Given the description of an element on the screen output the (x, y) to click on. 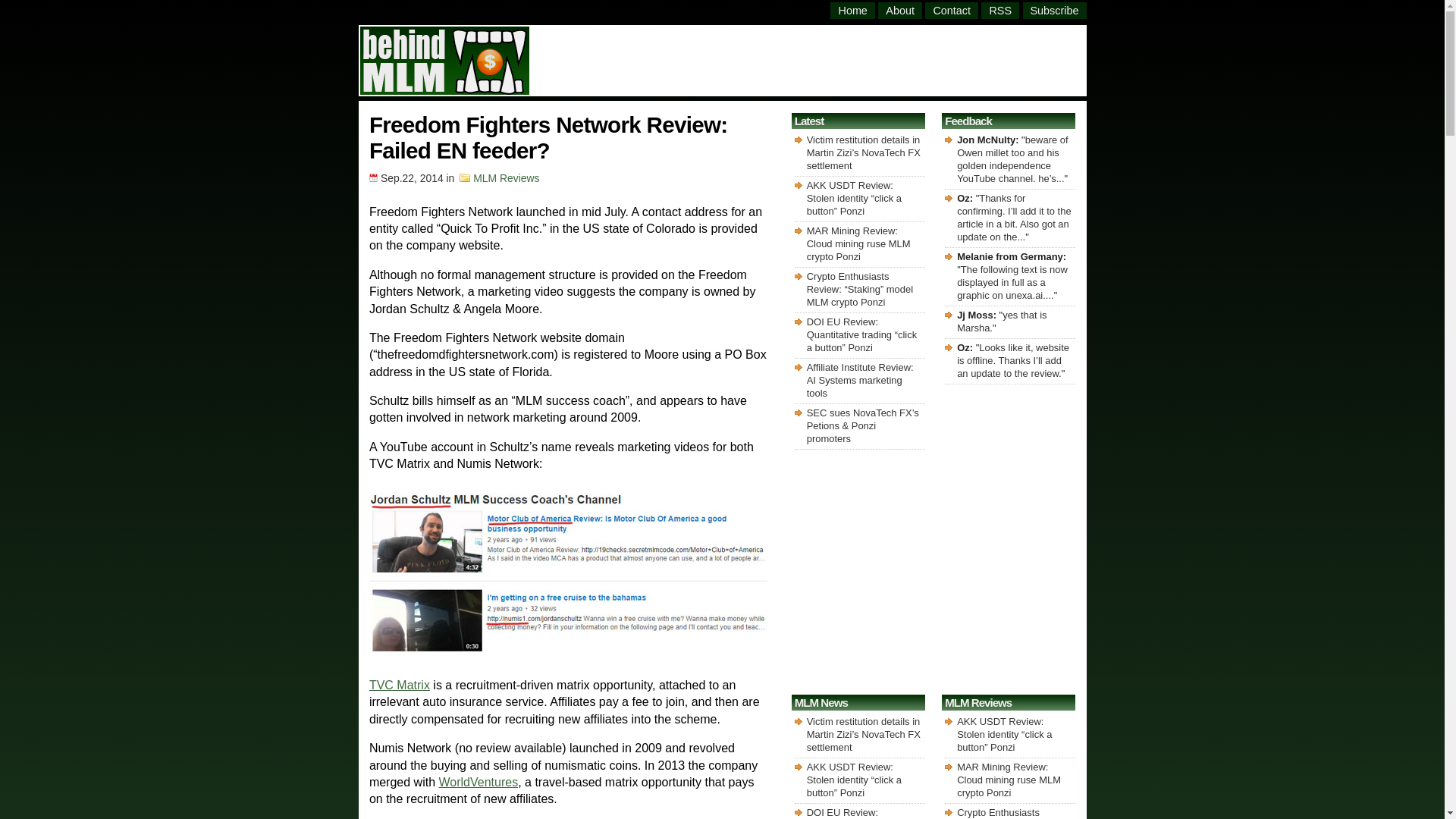
WorldVentures (478, 781)
TVC Matrix (399, 684)
MLM Reviews (505, 177)
TVC Matrix Review: Motor club and recruitment (399, 684)
World Ventures Review: Travel niche recruiting scam (478, 781)
